Given the description of an element on the screen output the (x, y) to click on. 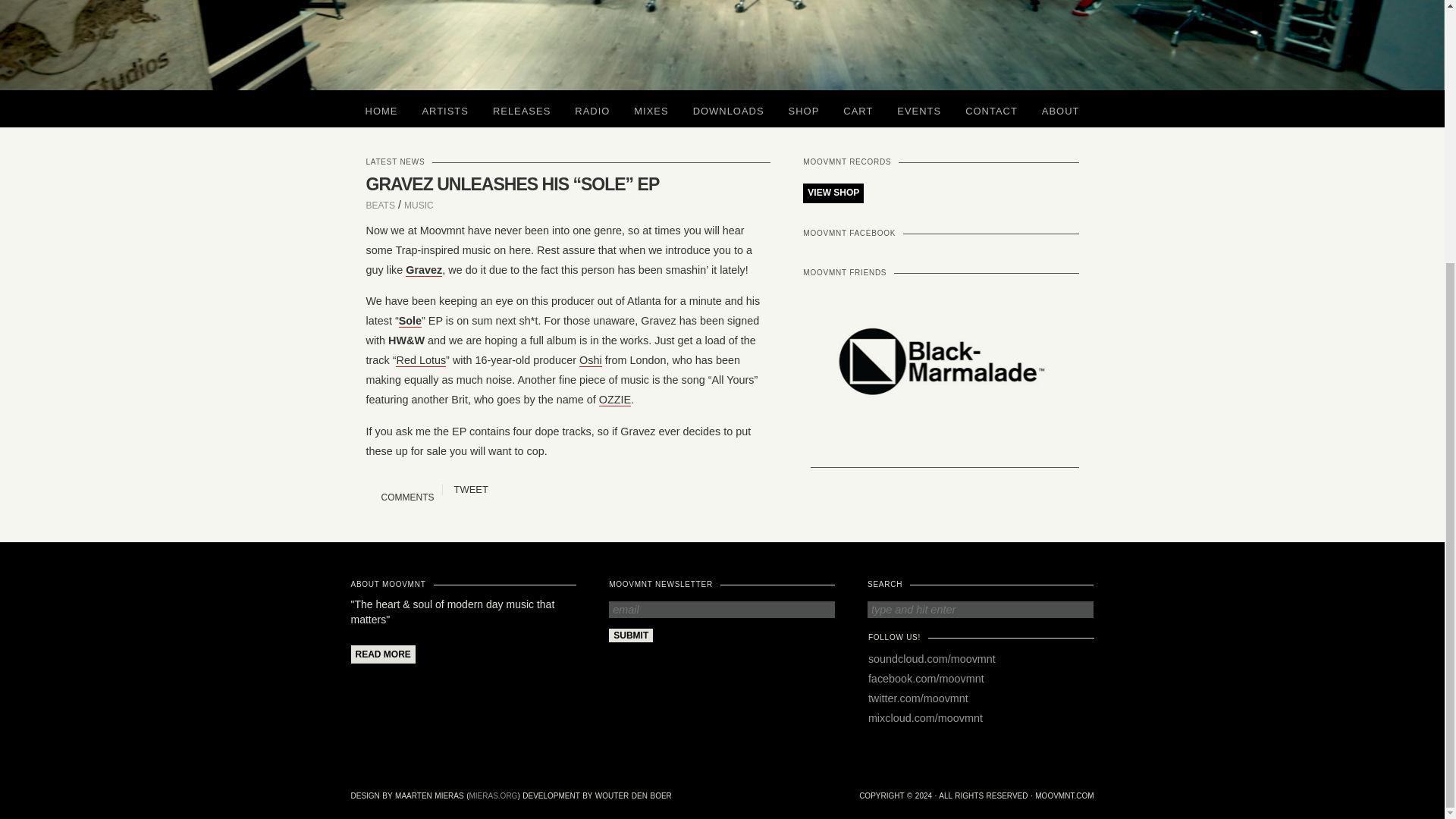
LATEST NEWS (395, 162)
CONTACT (991, 108)
RADIO (592, 108)
READ MORE (382, 654)
HOME (382, 108)
MUSIC (418, 204)
Gravez (424, 269)
COMMENTS (406, 497)
DOWNLOADS (728, 108)
Sole (410, 320)
